Given the description of an element on the screen output the (x, y) to click on. 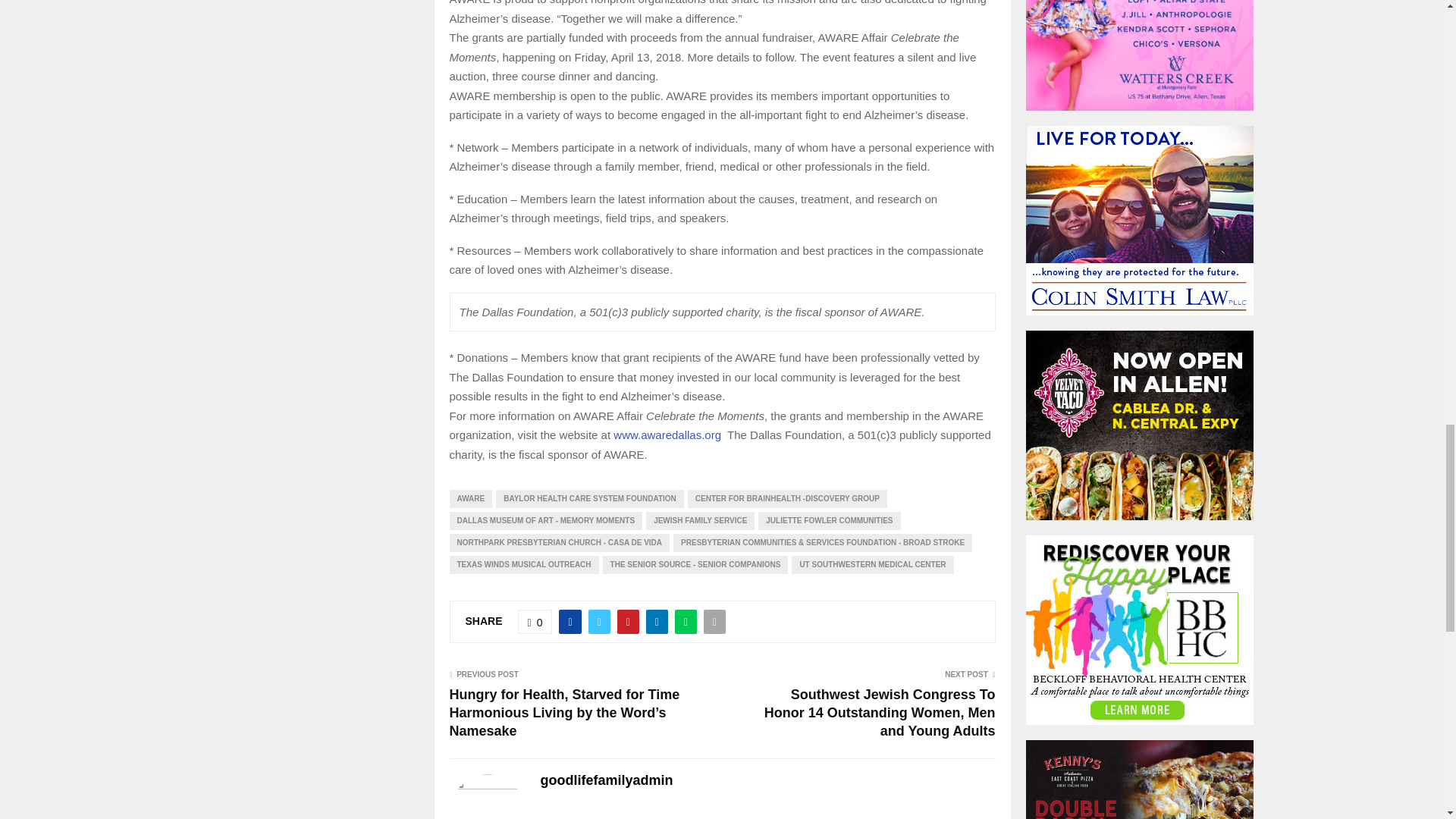
Like (535, 621)
